Given the description of an element on the screen output the (x, y) to click on. 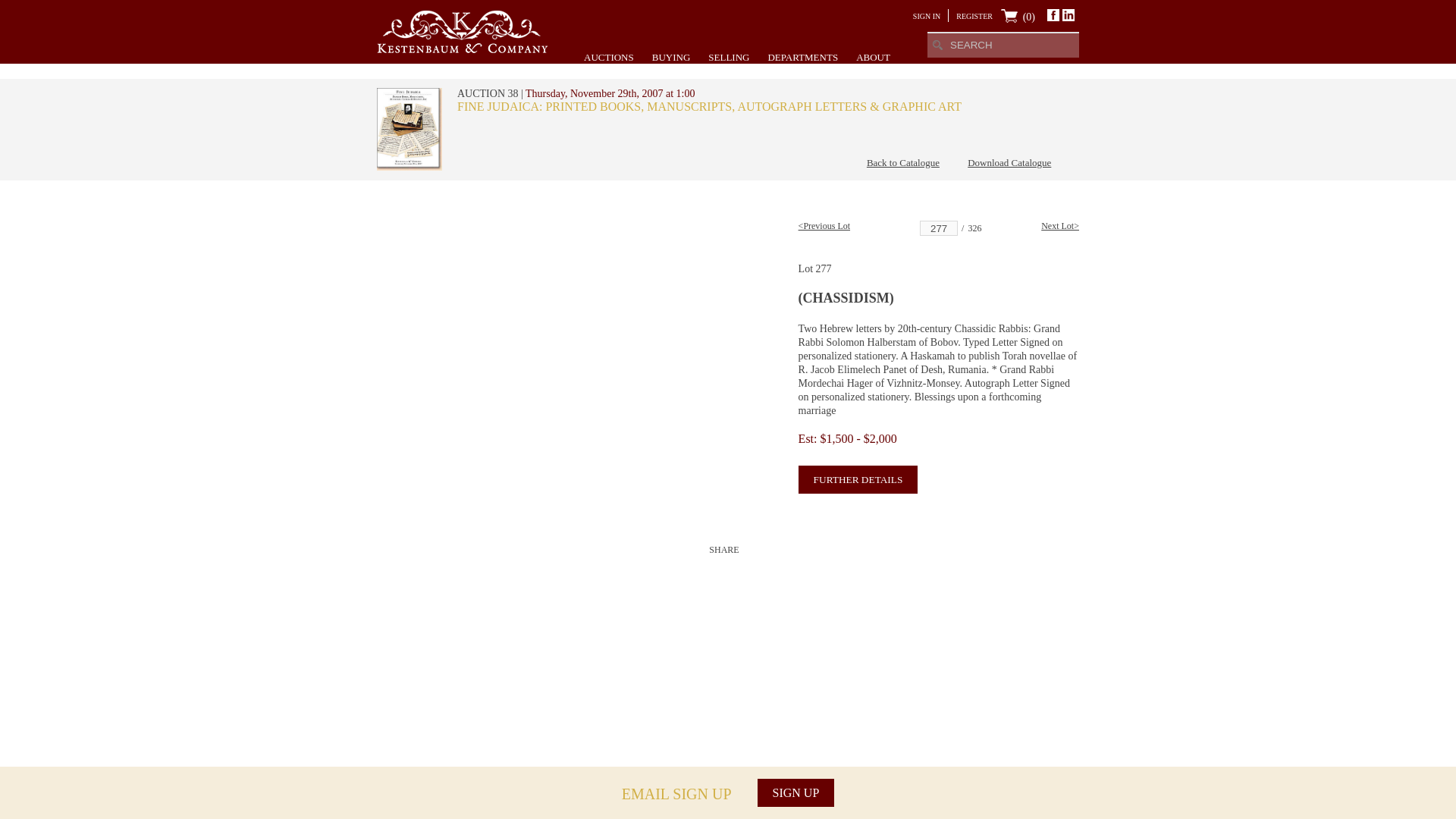
Download Catalogue (1009, 162)
AUCTIONS (608, 57)
ABOUT (872, 57)
FURTHER DETAILS (857, 479)
REGISTER (974, 16)
SEARCH (937, 44)
BUYING (671, 57)
DEPARTMENTS (802, 57)
Kestenbaum (462, 48)
SELLING (728, 57)
